Given the description of an element on the screen output the (x, y) to click on. 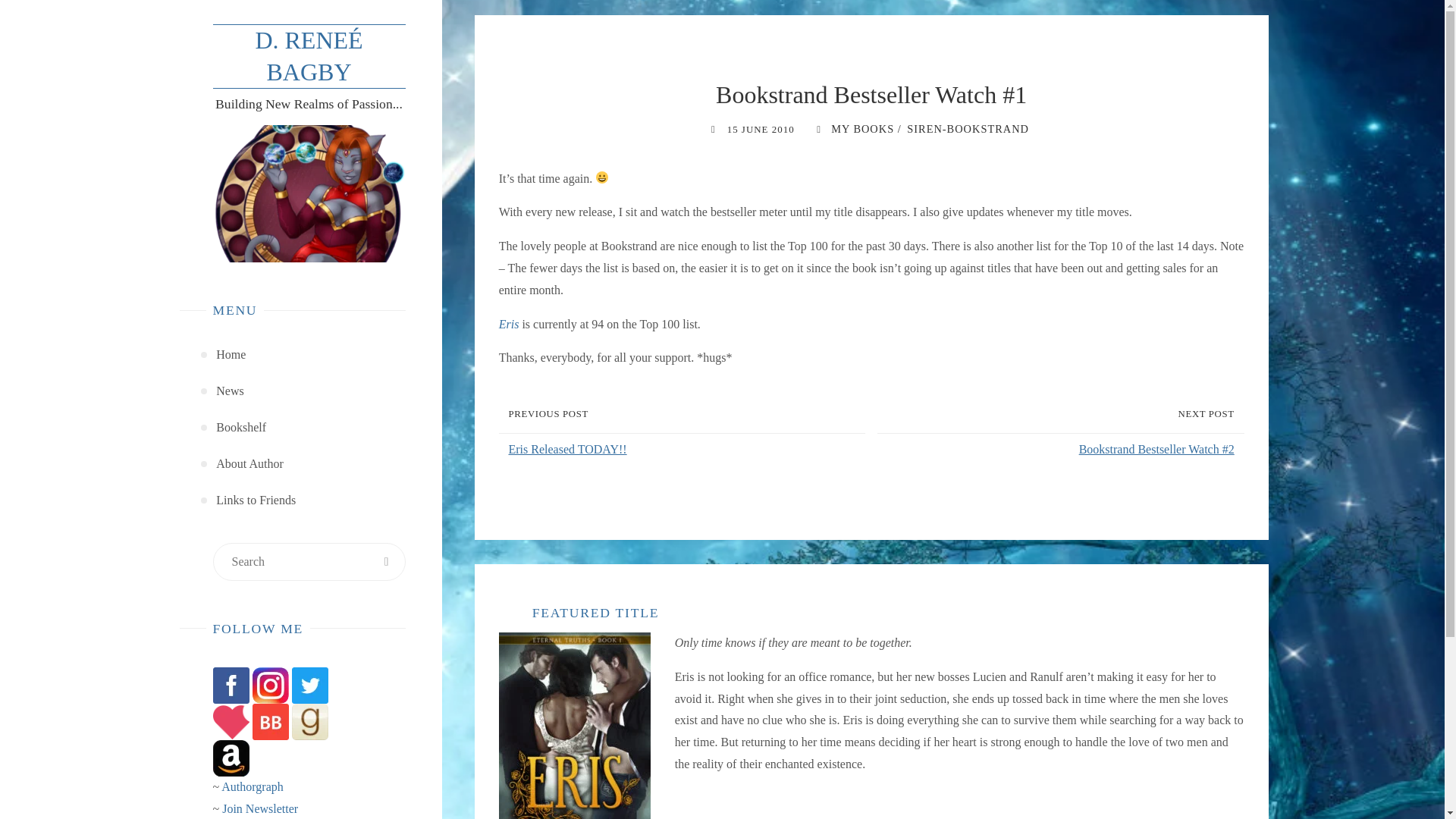
About Author (248, 463)
Links to Friends (255, 500)
Eris Released TODAY!! (684, 449)
Date (713, 128)
SIREN-BOOKSTRAND (966, 128)
Building New Realms of Passion... (308, 56)
Join Newsletter (260, 808)
Eris (509, 323)
Bookshelf (240, 427)
MY BOOKS (860, 128)
Categories (818, 128)
Authorgraph (251, 786)
Search (386, 561)
